Given the description of an element on the screen output the (x, y) to click on. 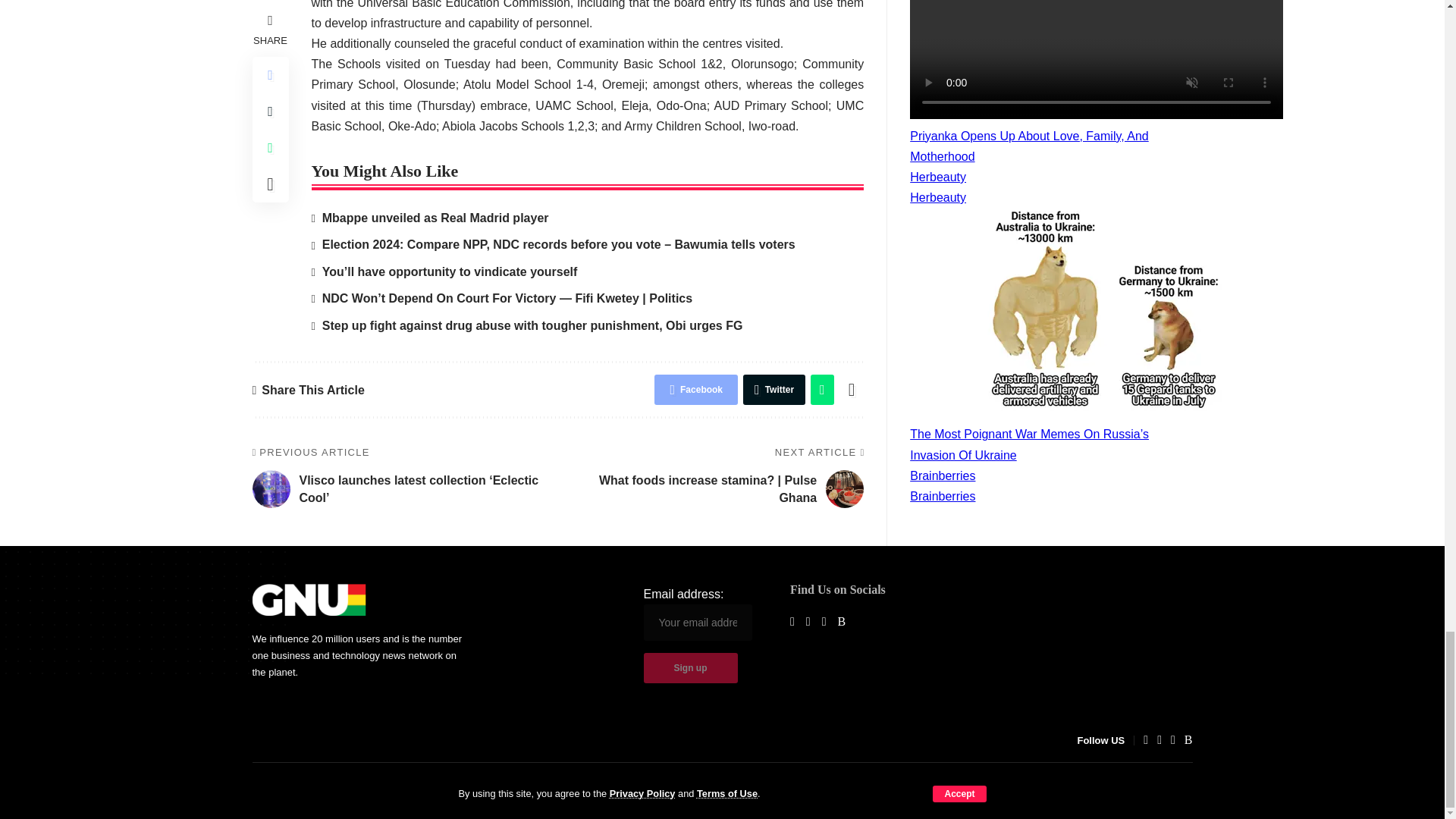
Sign up (689, 667)
